Given the description of an element on the screen output the (x, y) to click on. 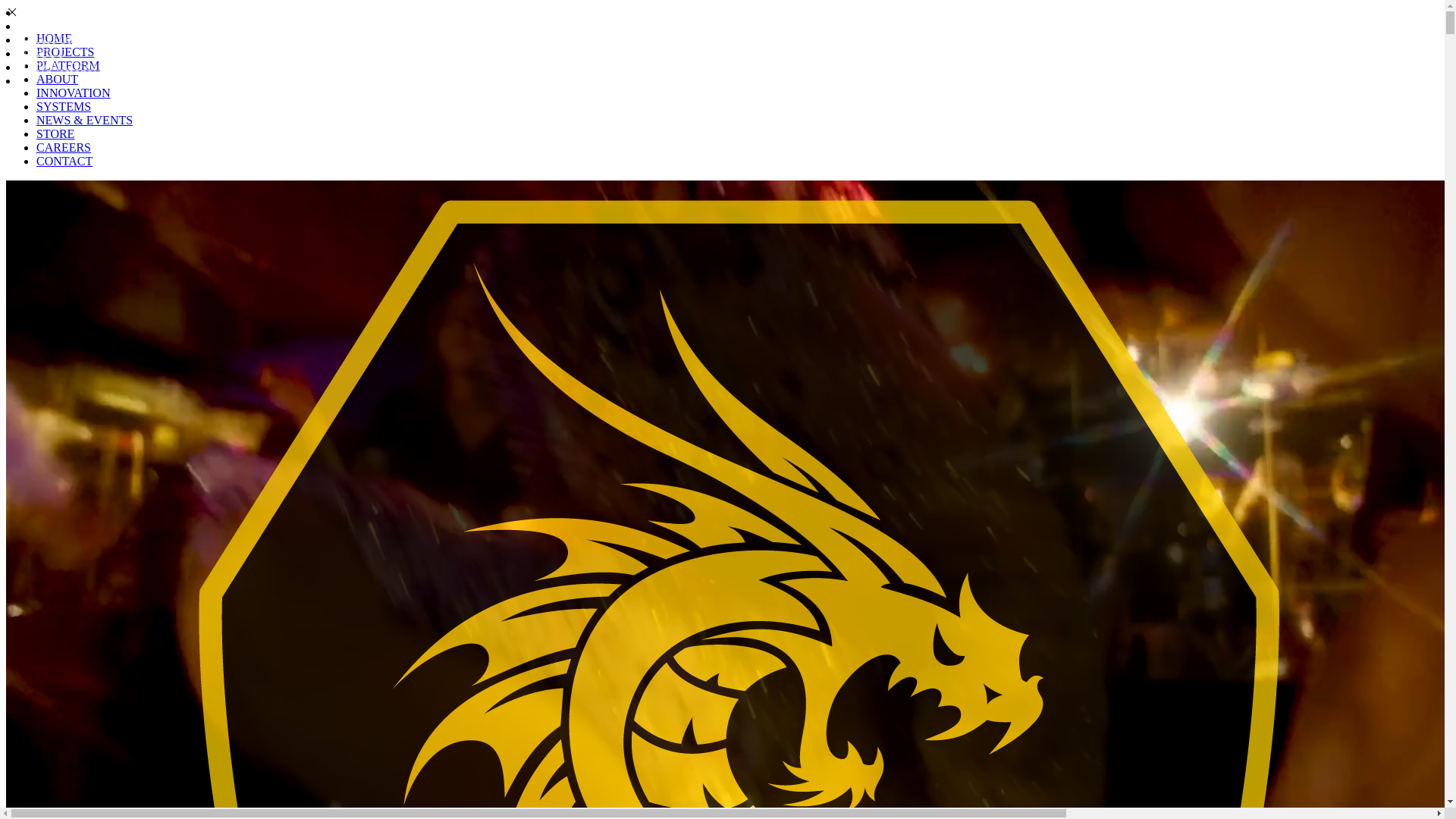
PROJECTS Element type: text (65, 51)
PLATFORM Element type: text (54, 39)
INNOVATION Element type: text (72, 92)
ABOUT Element type: text (43, 53)
STORE Element type: text (55, 133)
INNOVATION Element type: text (59, 66)
HOME Element type: text (40, 12)
PROJECTS Element type: text (51, 25)
HOME Element type: text (54, 37)
CONTACT Element type: text (64, 160)
ABOUT Element type: text (57, 78)
CAREERS Element type: text (63, 147)
PLATFORM Element type: text (68, 65)
NEWS & EVENTS Element type: text (84, 119)
SYSTEMS Element type: text (63, 106)
